Given the description of an element on the screen output the (x, y) to click on. 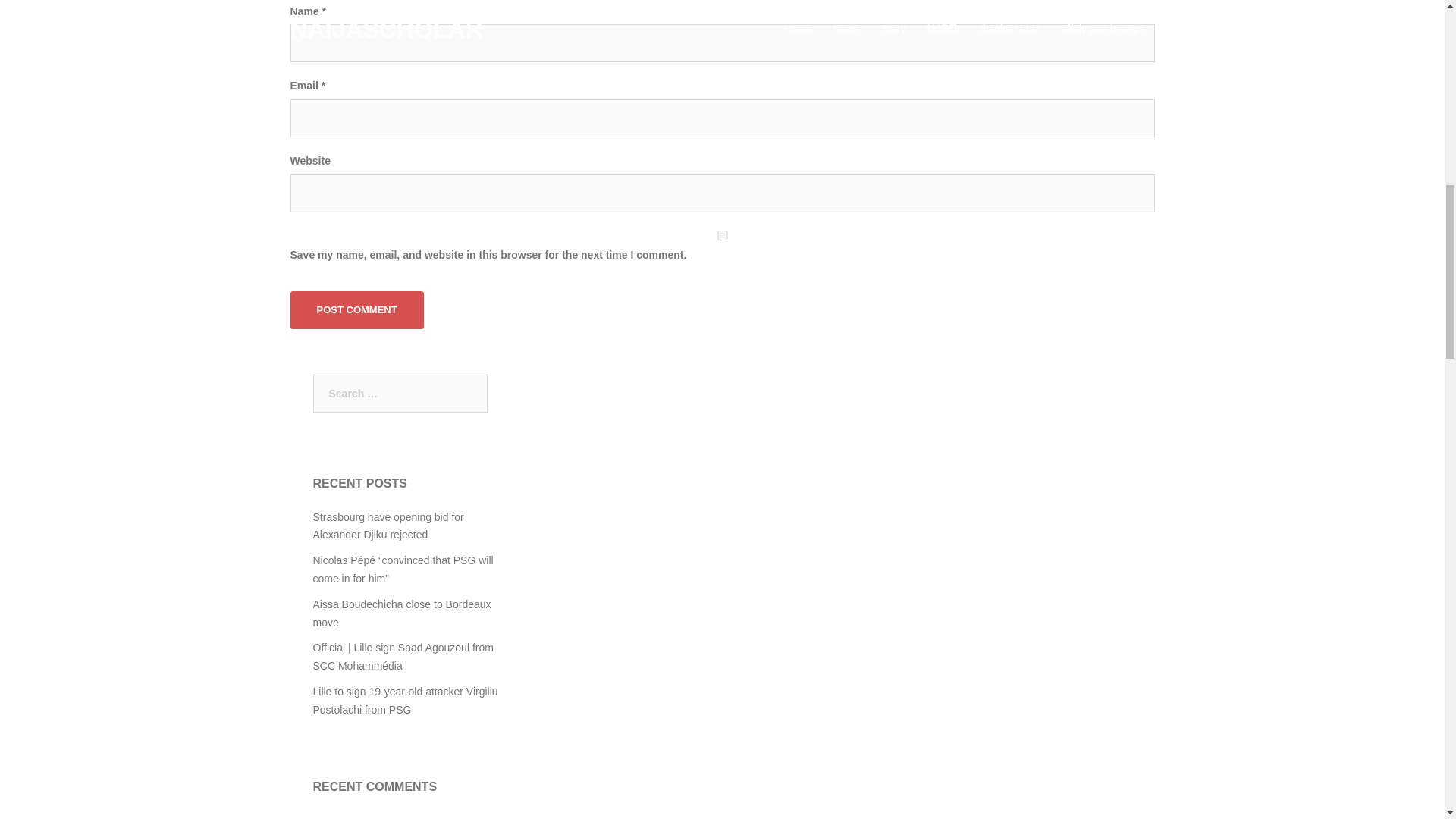
yes (721, 235)
Post Comment (356, 310)
Strasbourg have opening bid for Alexander Djiku rejected (388, 526)
Post Comment (356, 310)
Aissa Boudechicha close to Bordeaux move (401, 613)
